Given the description of an element on the screen output the (x, y) to click on. 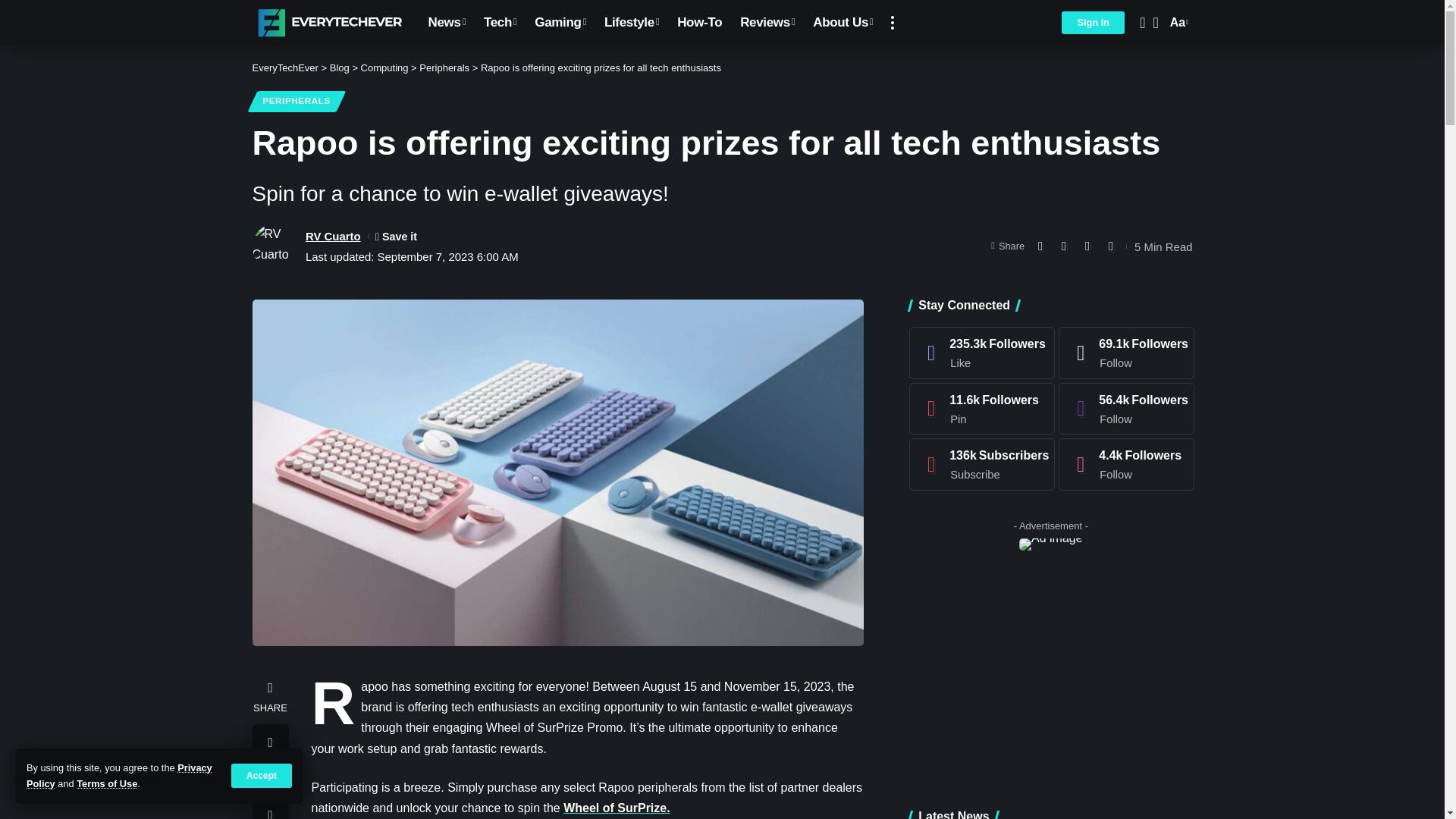
EveryTechEver (327, 22)
Terms of Use (106, 783)
Privacy Policy (119, 775)
News (446, 22)
Tech (499, 22)
Lifestyle (631, 22)
How-To (699, 22)
Accept (261, 775)
Gaming (560, 22)
